Given the description of an element on the screen output the (x, y) to click on. 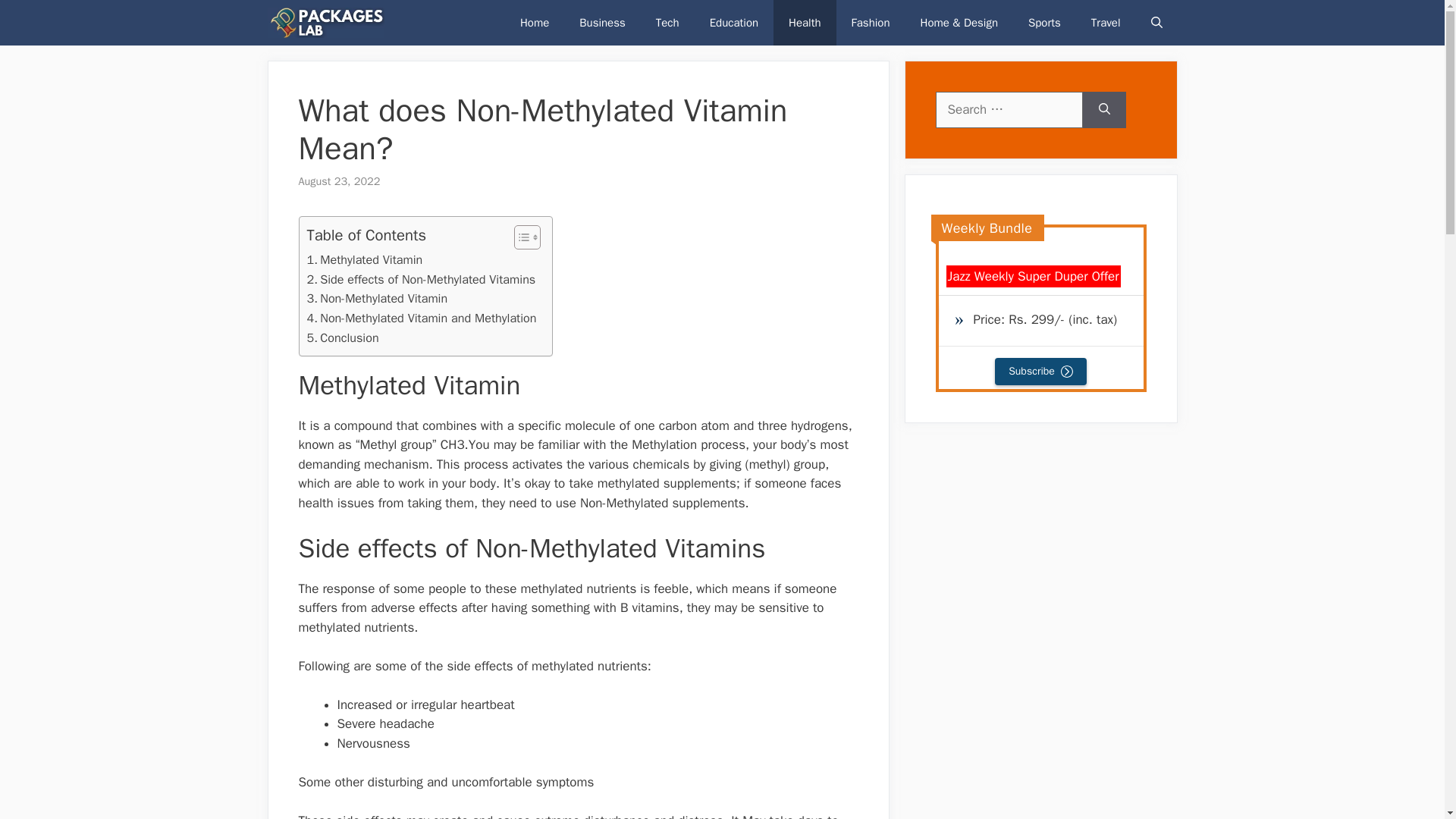
Health (804, 22)
Non-Methylated Vitamin and Methylation (420, 318)
Education (733, 22)
Subscribe (1040, 370)
Side effects of Non-Methylated Vitamins (420, 279)
Sports (1044, 22)
Home (534, 22)
Conclusion (341, 338)
Methylated Vitamin (363, 260)
Packages Lab (325, 22)
Tech (667, 22)
Side effects of Non-Methylated Vitamins (420, 279)
Non-Methylated Vitamin and Methylation (420, 318)
Non-Methylated Vitamin (375, 298)
Methylated Vitamin (363, 260)
